Given the description of an element on the screen output the (x, y) to click on. 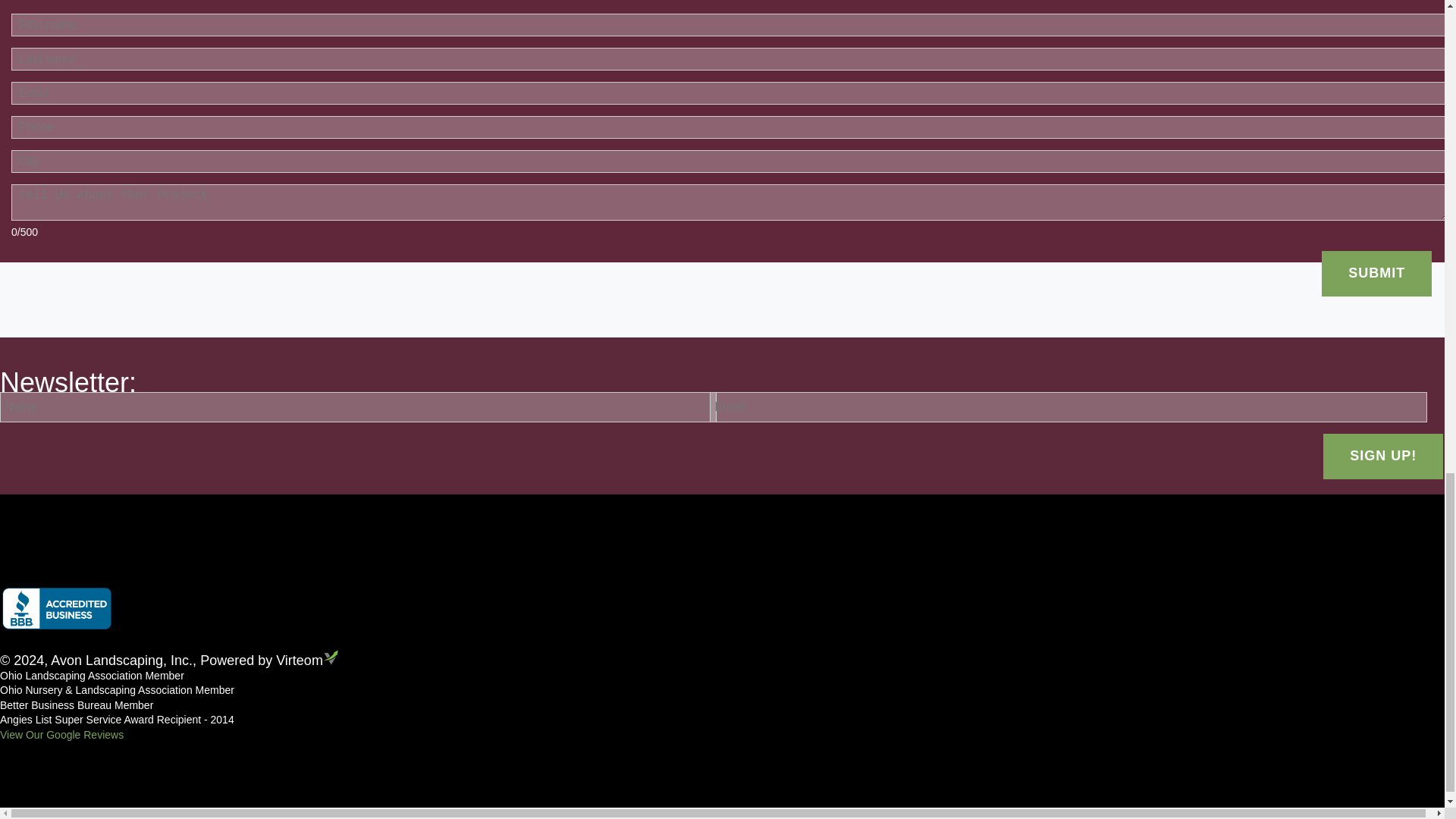
Sign Up! (1382, 456)
SUBMIT (1376, 272)
